Given the description of an element on the screen output the (x, y) to click on. 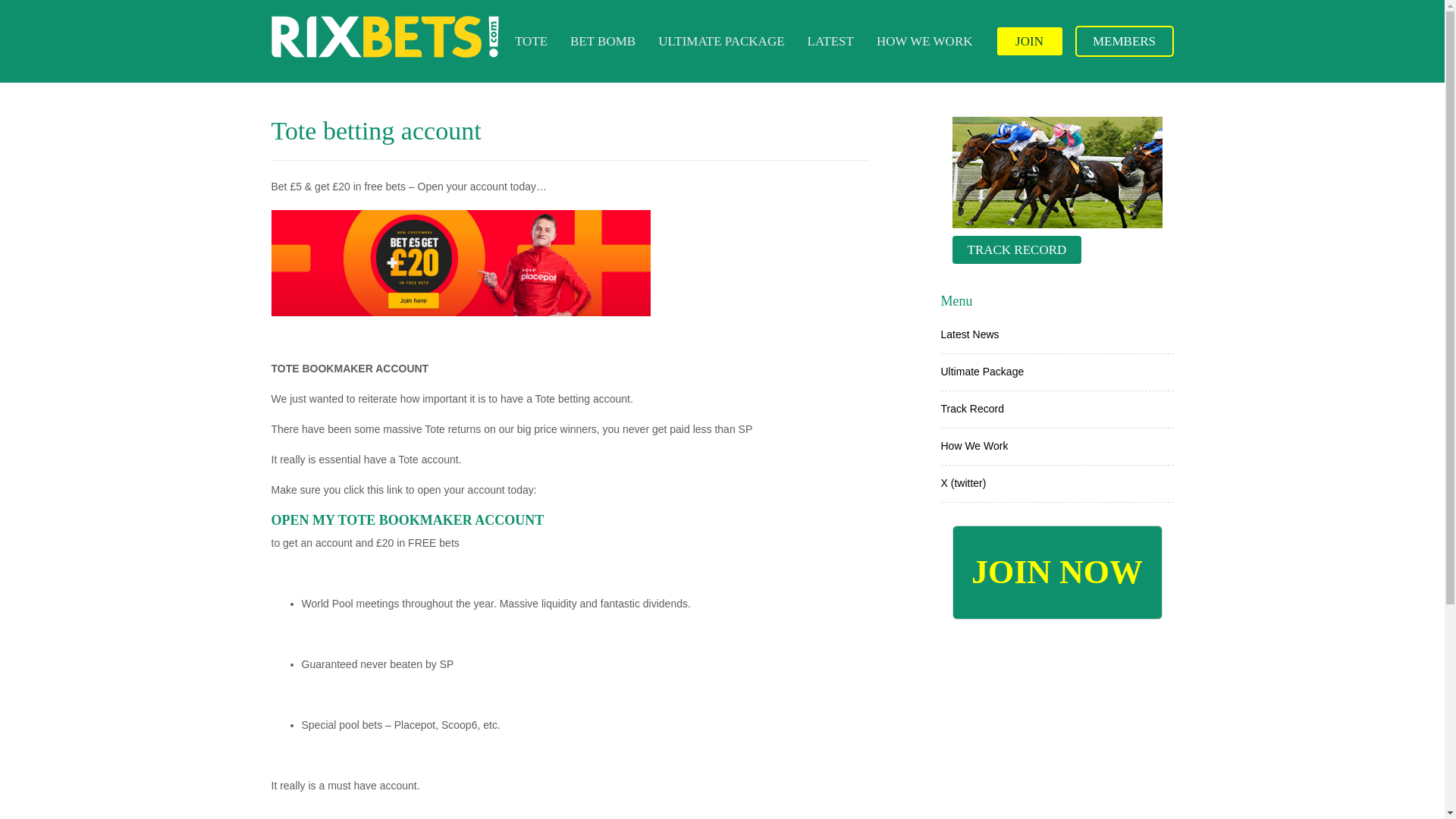
OPEN MY TOTE BOOKMAKER ACCOUNT (407, 519)
How We Work (973, 445)
LATEST (830, 40)
Track Record (972, 408)
ULTIMATE PACKAGE (721, 40)
BET BOMB (602, 40)
JOIN NOW (1056, 572)
HOW WE WORK (924, 40)
TRACK RECORD (1016, 249)
Latest News (969, 334)
Ultimate Package (981, 371)
TOTE (531, 40)
Rixbets (384, 36)
MEMBERS (1124, 40)
JOIN (1028, 40)
